Given the description of an element on the screen output the (x, y) to click on. 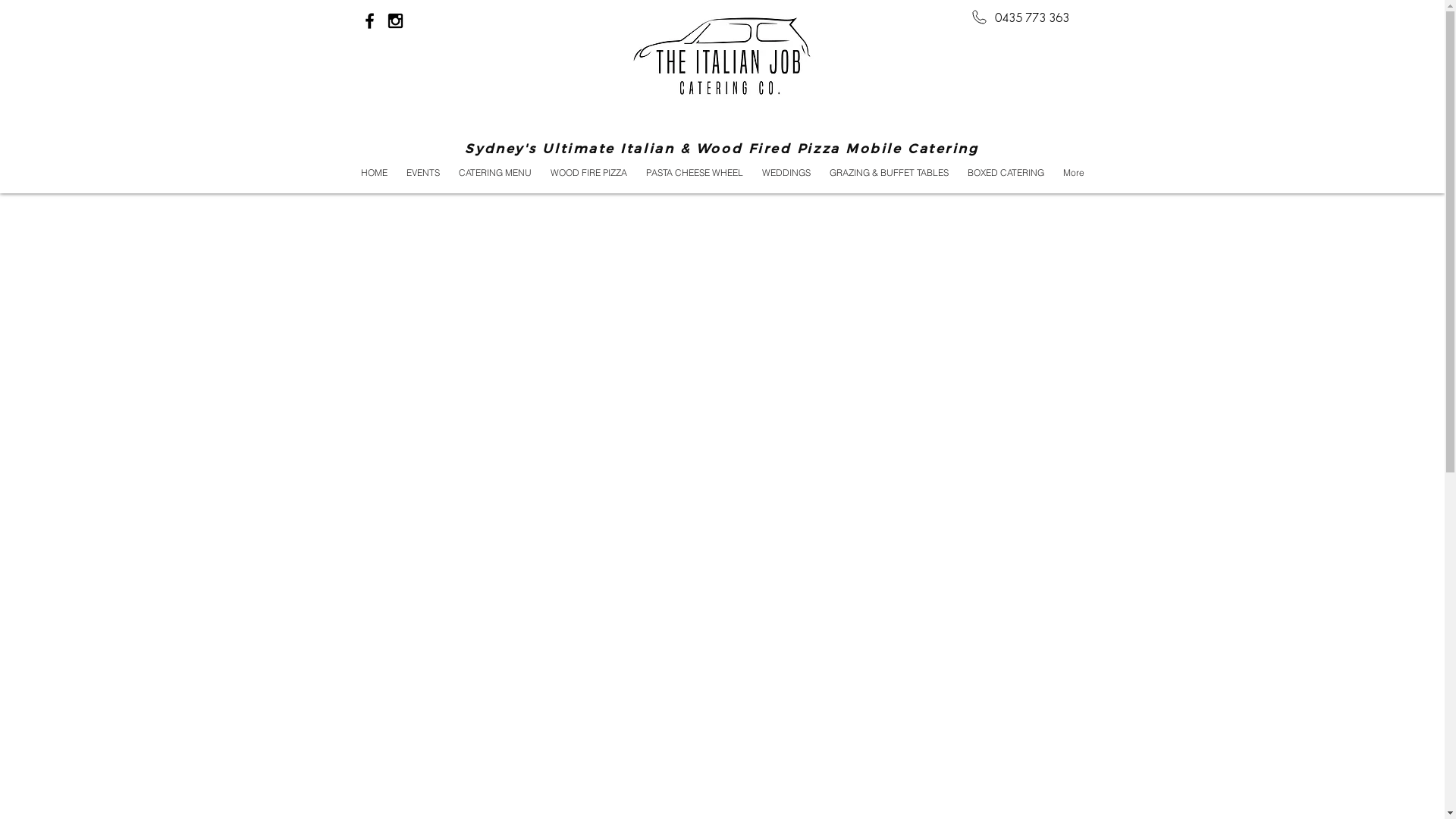
CATERING MENU Element type: text (494, 172)
BOXED CATERING Element type: text (1006, 172)
PASTA CHEESE WHEEL Element type: text (695, 172)
EVENTS Element type: text (423, 172)
HOME Element type: text (373, 172)
WEDDINGS Element type: text (785, 172)
GRAZING & BUFFET TABLES Element type: text (889, 172)
WOOD FIRE PIZZA Element type: text (589, 172)
0435 773 363 Element type: text (1031, 18)
